Given the description of an element on the screen output the (x, y) to click on. 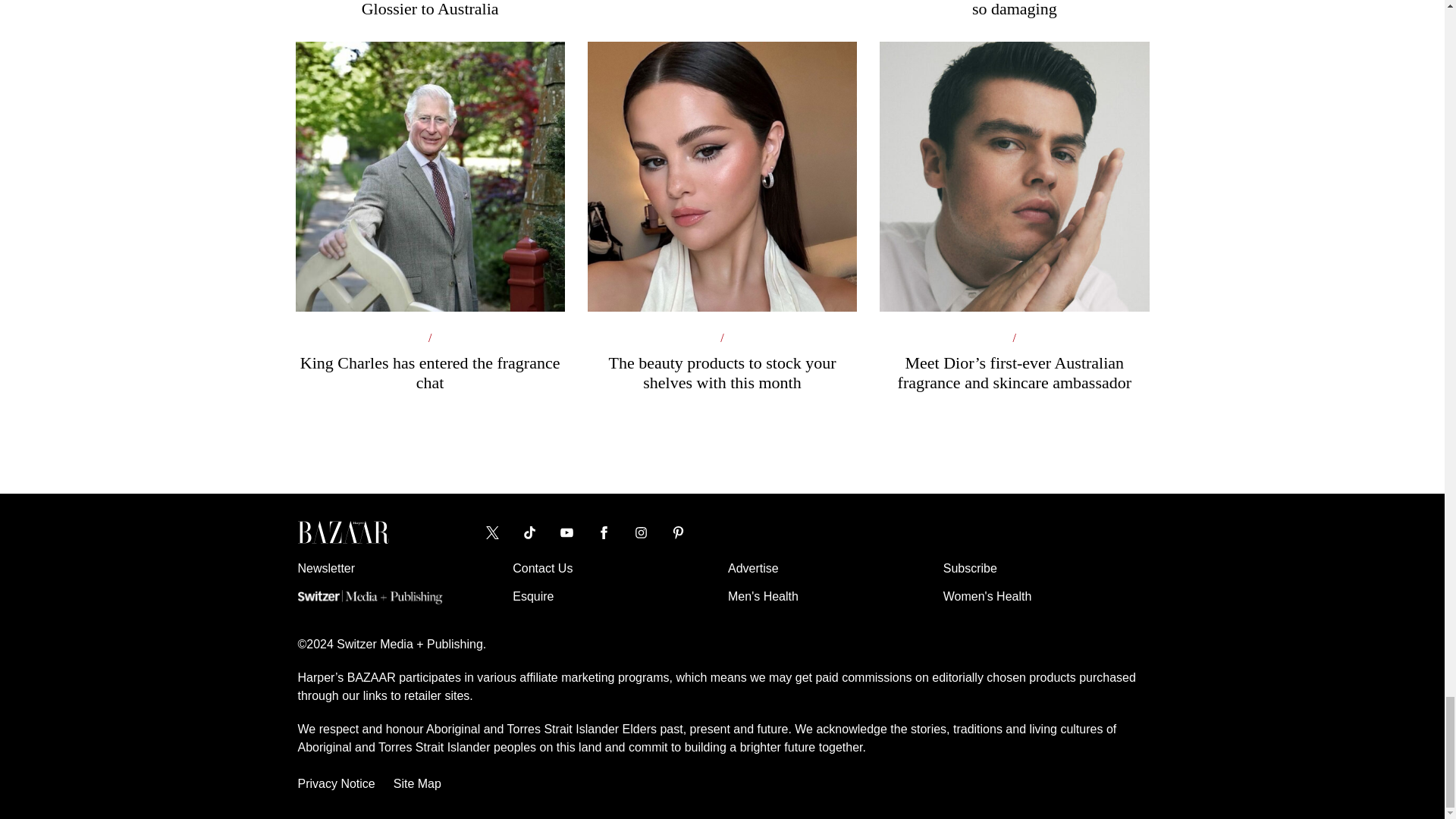
King Charles has entered the fragrance chat (429, 280)
Emily Weiss on finally bringing Glossier to Australia (429, 9)
Emily Weiss on finally bringing Glossier to Australia (429, 9)
The beauty products to stock your shelves with this month (722, 280)
